Given the description of an element on the screen output the (x, y) to click on. 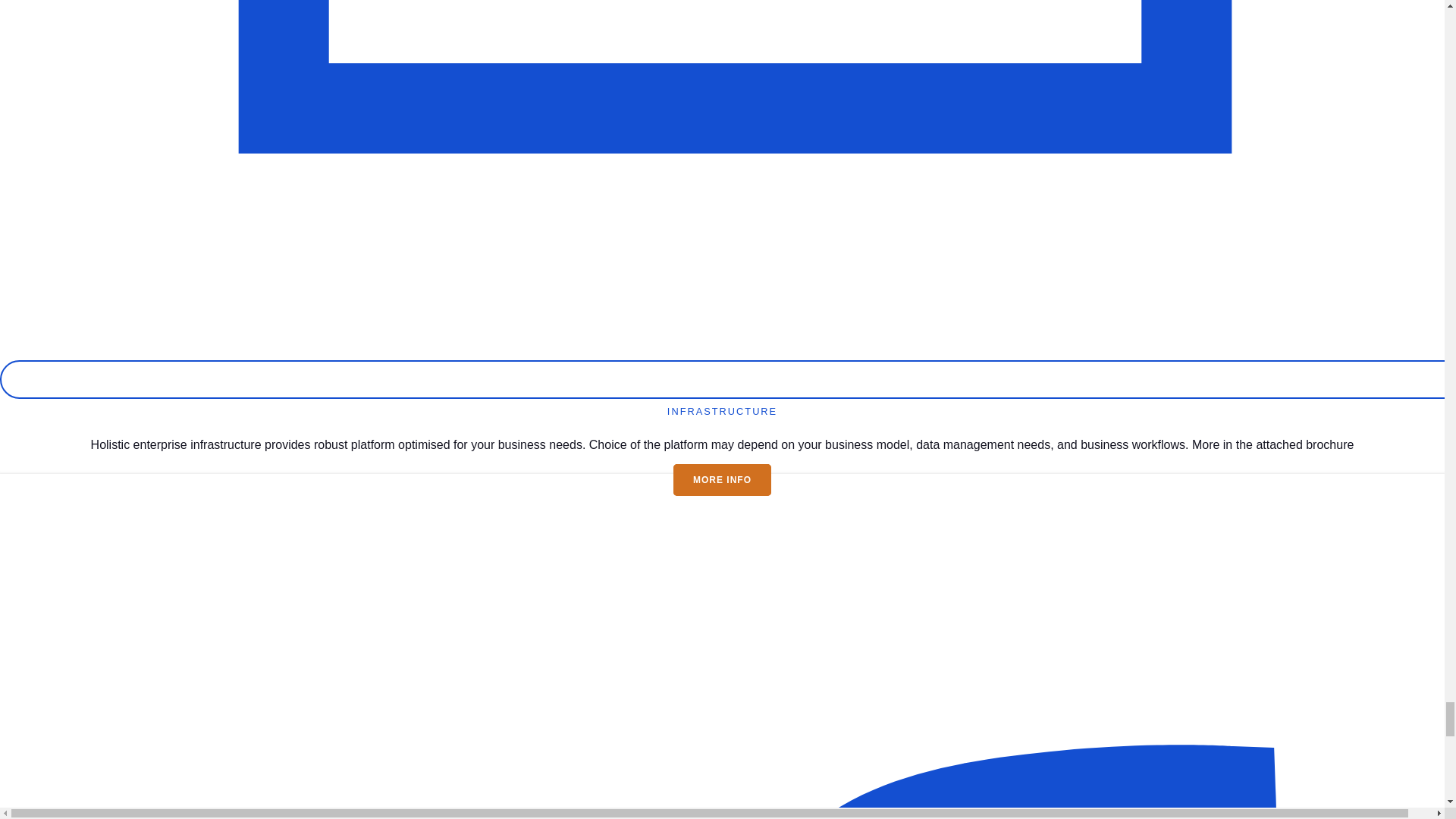
MORE INFO (721, 480)
